Given the description of an element on the screen output the (x, y) to click on. 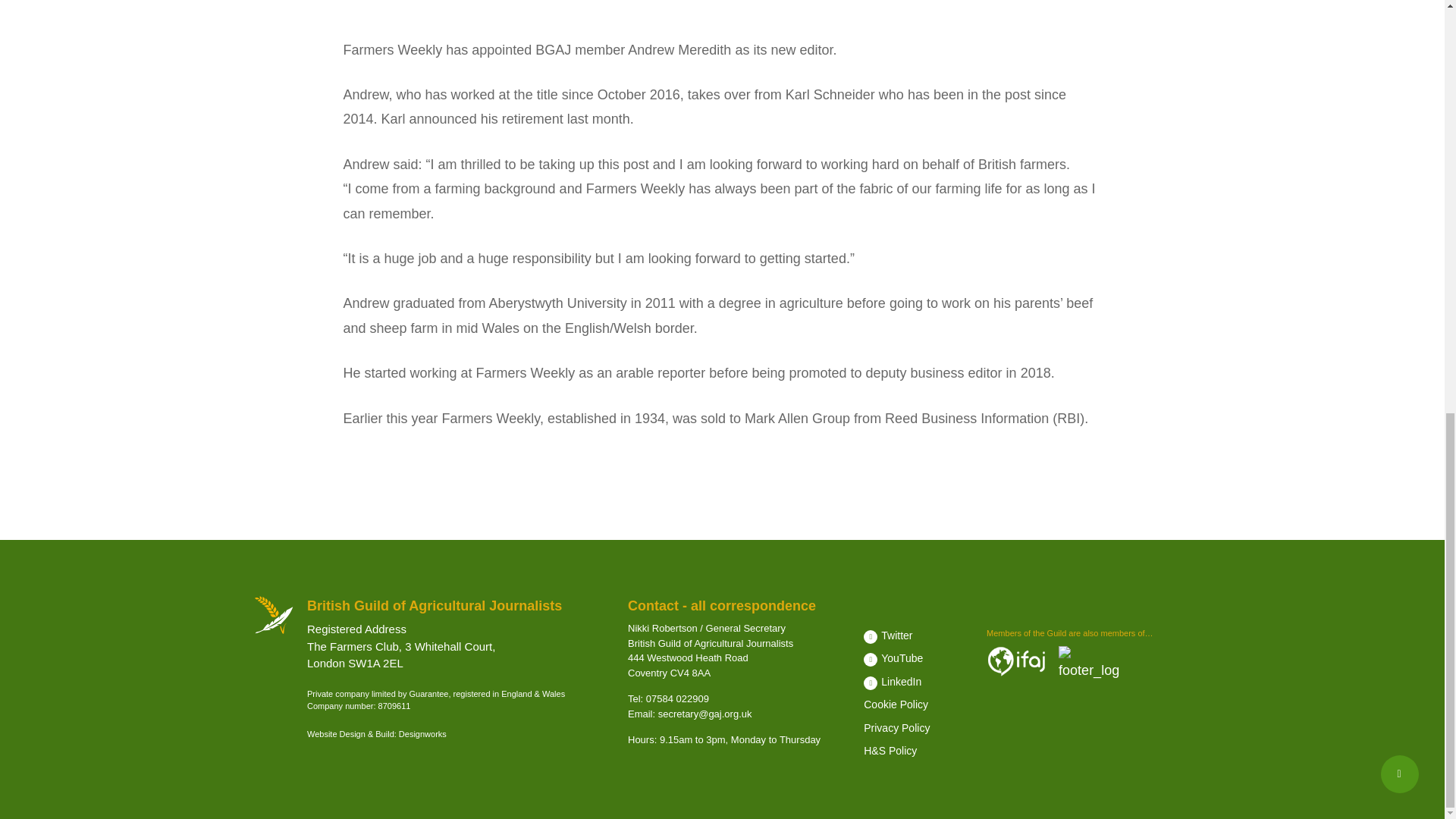
Designworks (422, 733)
